Given the description of an element on the screen output the (x, y) to click on. 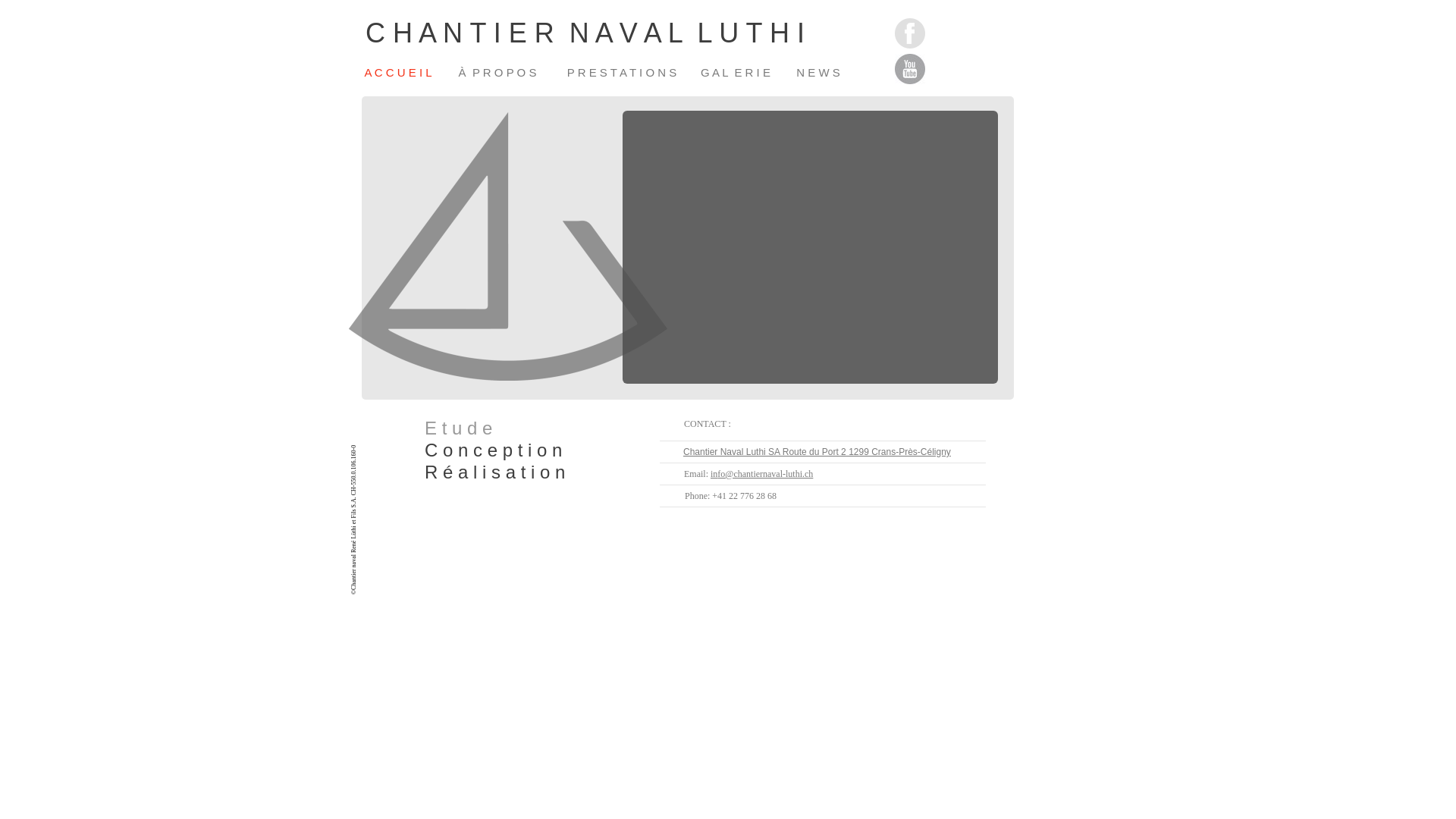
N E W S Element type: text (818, 71)
P R E S T A T I O N S Element type: text (622, 71)
in Element type: text (713, 472)
  Element type: text (349, 586)
G A L  E R I E  Element type: text (736, 71)
fo@chantiernaval-luthi.ch Element type: text (764, 472)
  Element type: text (349, 6)
A C C U E I L Element type: text (397, 71)
G A L  E R I E  Element type: text (736, 71)
P R E S T A T I O N S Element type: text (621, 71)
A C C U E I L Element type: text (397, 71)
